Given the description of an element on the screen output the (x, y) to click on. 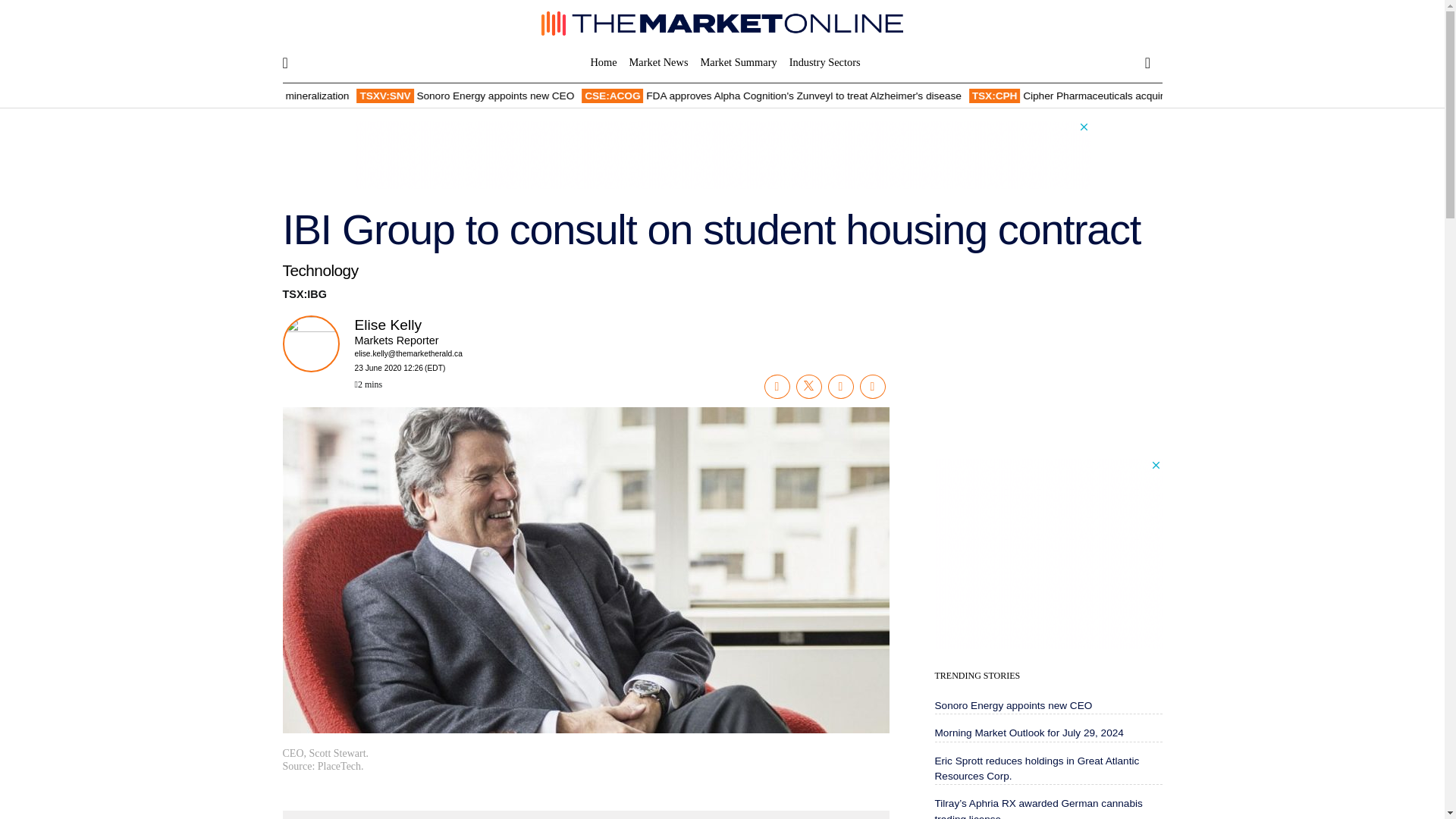
Market Summary (738, 62)
3rd party ad content (1047, 553)
3rd party ad content (722, 154)
Market News (658, 62)
Industry Sectors (821, 62)
Home (606, 62)
